Given the description of an element on the screen output the (x, y) to click on. 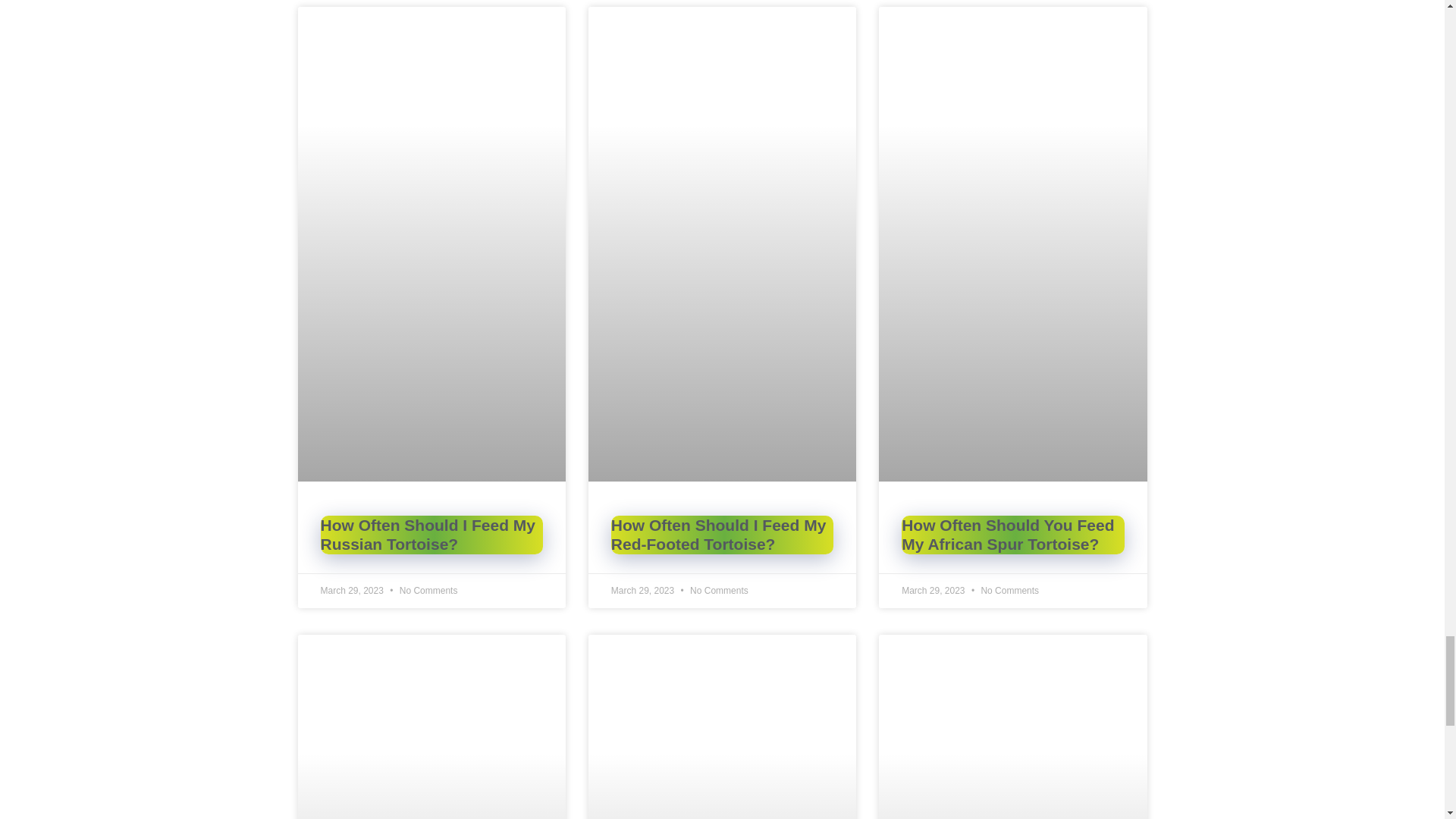
How Often Should I Feed My Red-Footed Tortoise? (719, 534)
How Often Should I Feed My Russian Tortoise? (427, 534)
How Often Should You Feed My African Spur Tortoise? (1007, 534)
